Given the description of an element on the screen output the (x, y) to click on. 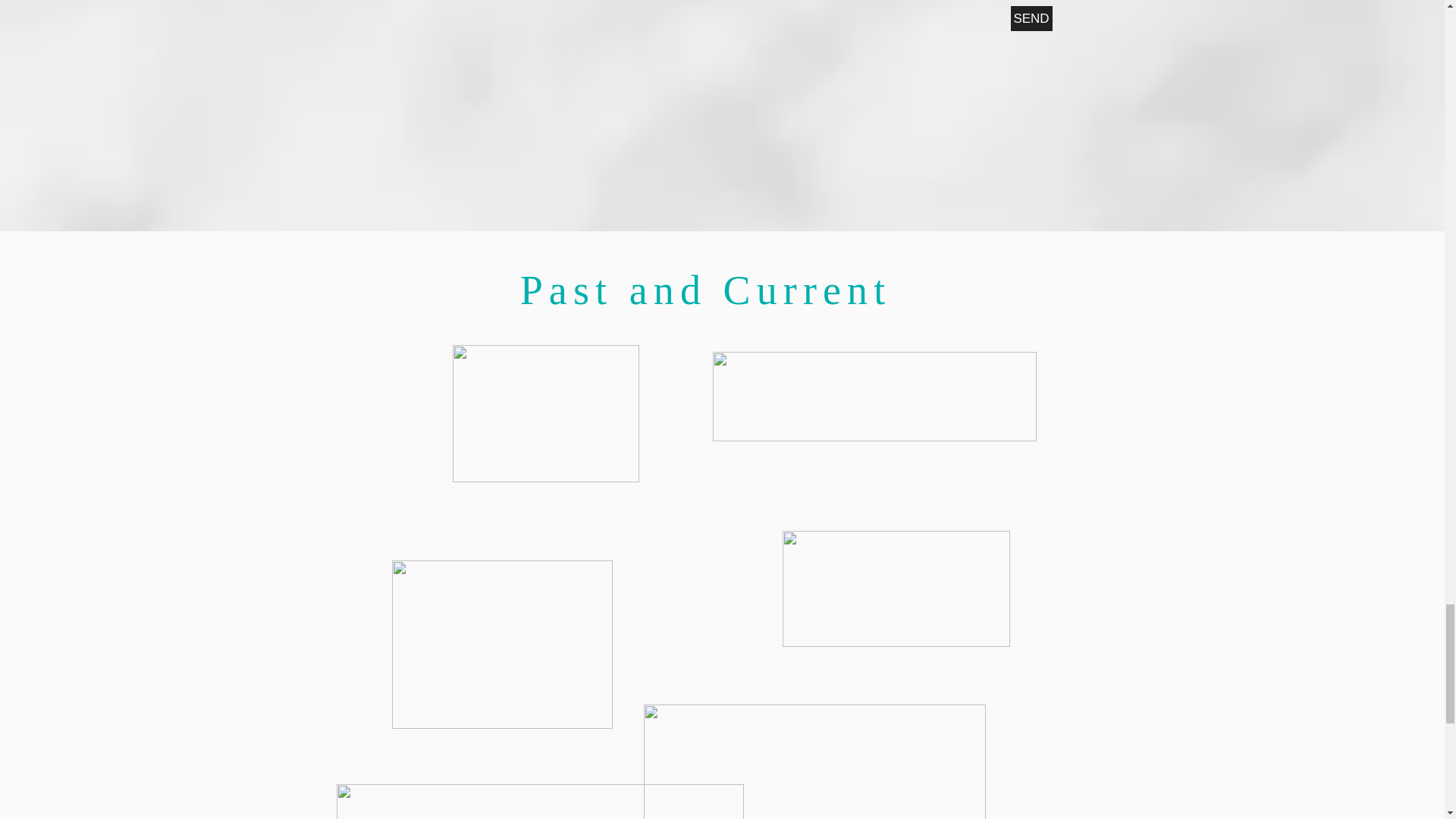
SEND (1030, 18)
jamescollins.jpg (874, 396)
